Given the description of an element on the screen output the (x, y) to click on. 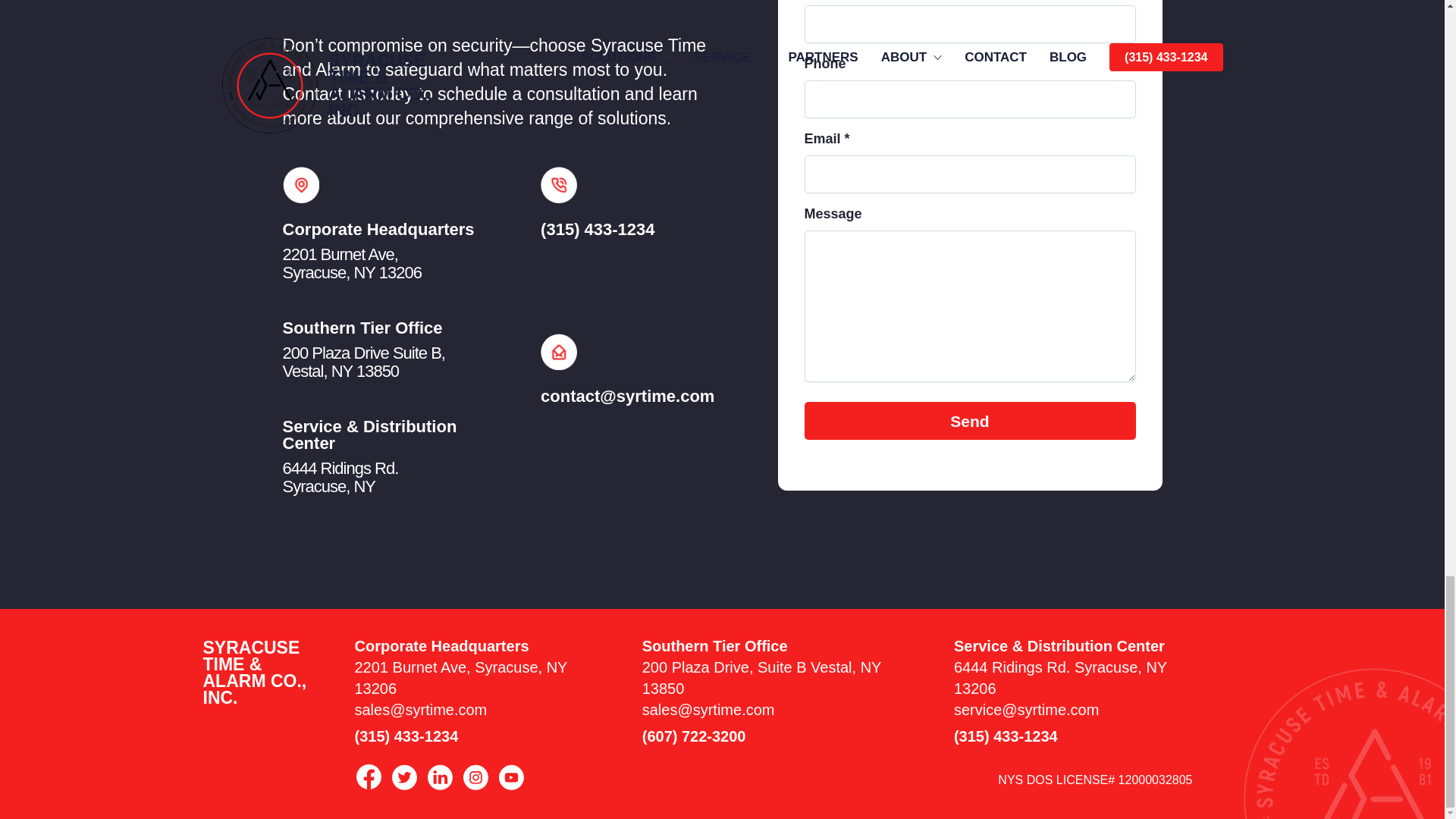
2201 Burnet Ave, Syracuse, NY 13206 (461, 677)
6444 Ridings Rd. Syracuse, NY 13206 (1060, 677)
Send (351, 262)
Send (969, 420)
200 Plaza Drive, Suite B Vestal, NY 13850 (363, 361)
